Given the description of an element on the screen output the (x, y) to click on. 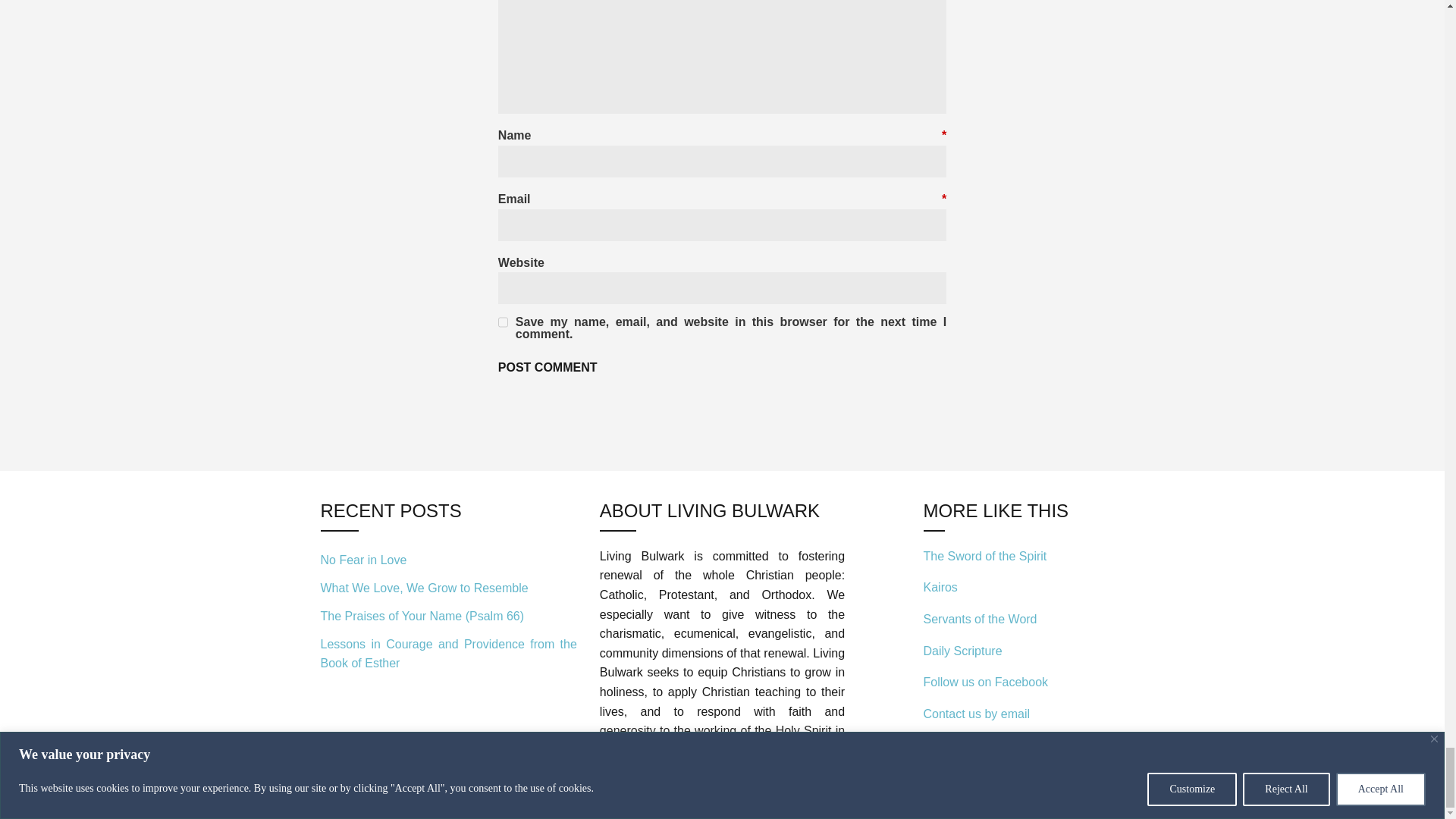
No Fear in Love  (448, 560)
Kairos (940, 586)
Privacy Policy (637, 780)
Lessons in Courage and Providence from the Book of Esther (448, 651)
Post Comment (546, 367)
What We Love, We Grow to Resemble (448, 588)
Post Comment (546, 367)
The Sword of the Spirit (984, 555)
